Given the description of an element on the screen output the (x, y) to click on. 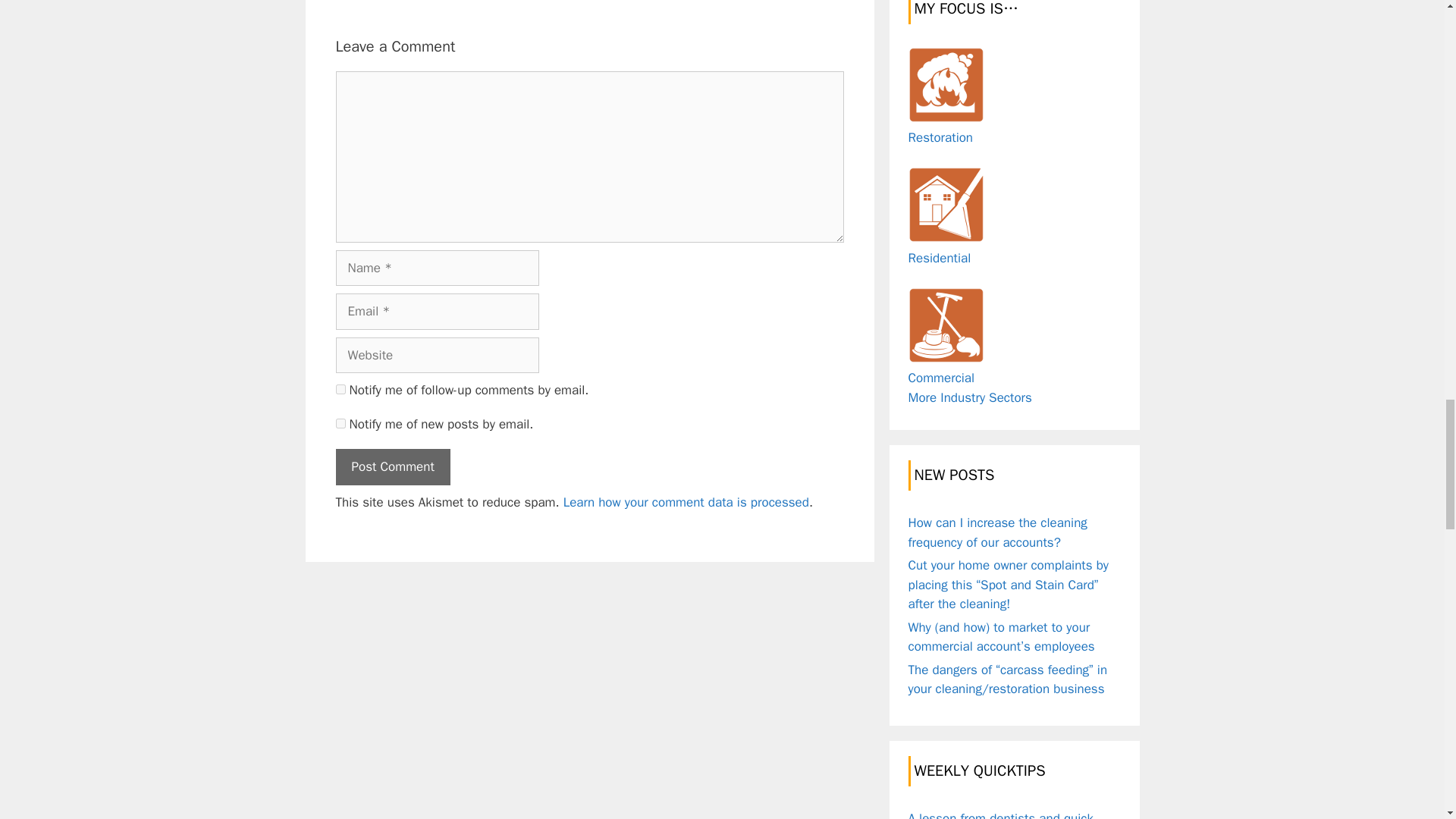
subscribe (339, 423)
Post Comment (391, 466)
subscribe (339, 388)
